Given the description of an element on the screen output the (x, y) to click on. 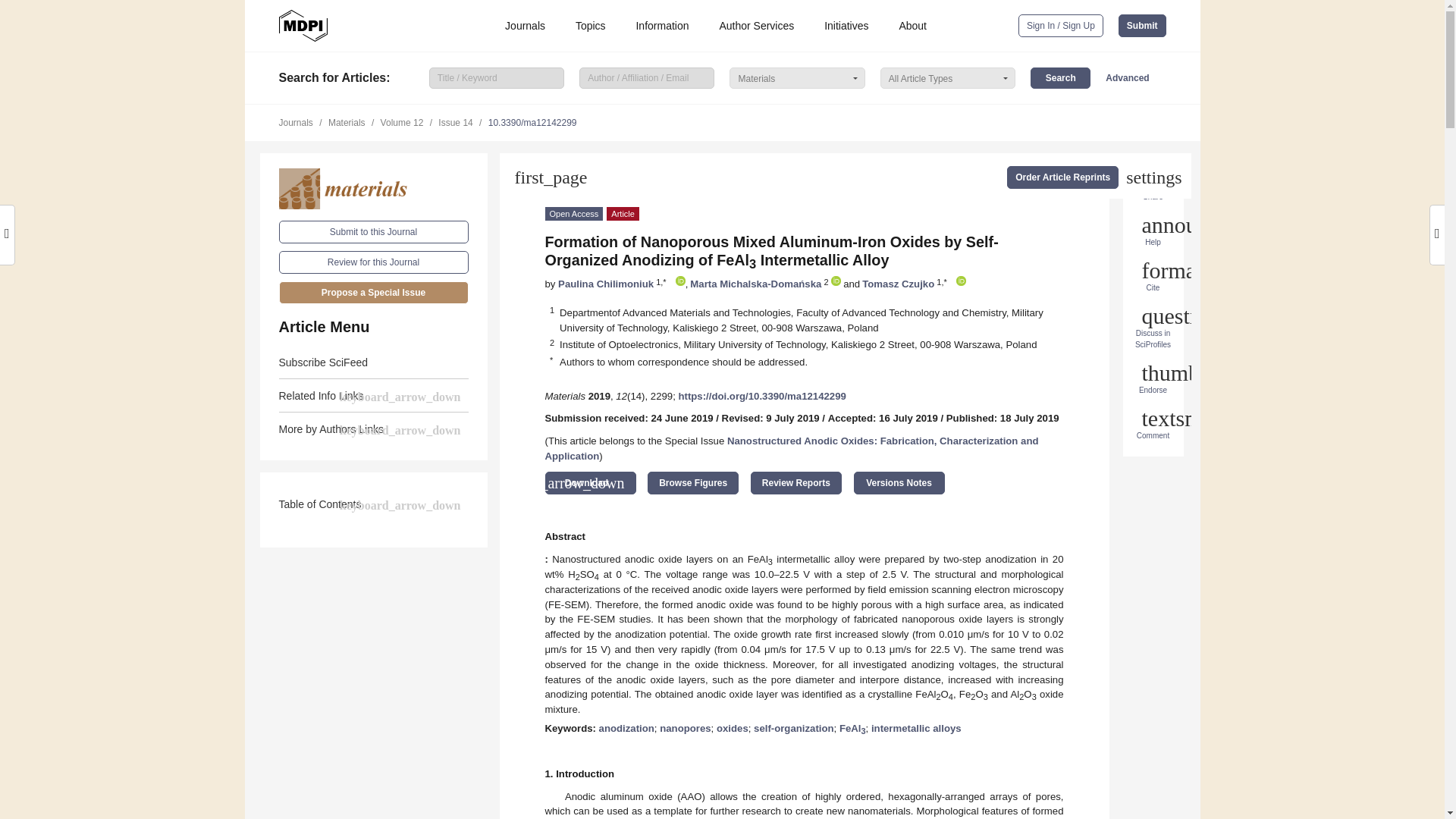
ORCID (961, 280)
Search (1060, 77)
MDPI Open Access Journals (303, 25)
Search (1060, 77)
Materials (373, 188)
ORCID (836, 280)
ORCID (680, 280)
